Given the description of an element on the screen output the (x, y) to click on. 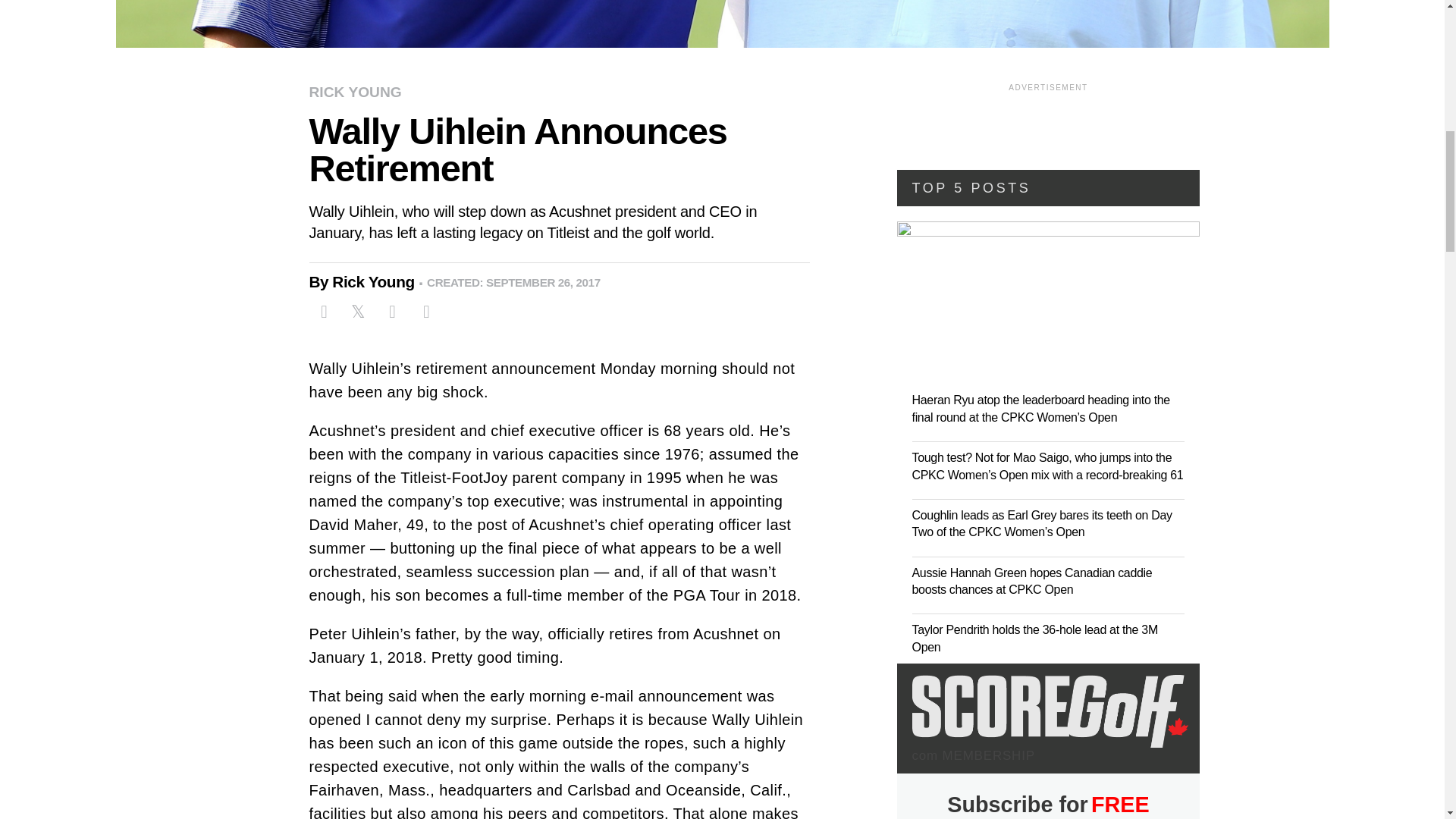
Share on Facebook (323, 311)
Tweet This Post (357, 311)
Posts by Rick Young (378, 281)
